Given the description of an element on the screen output the (x, y) to click on. 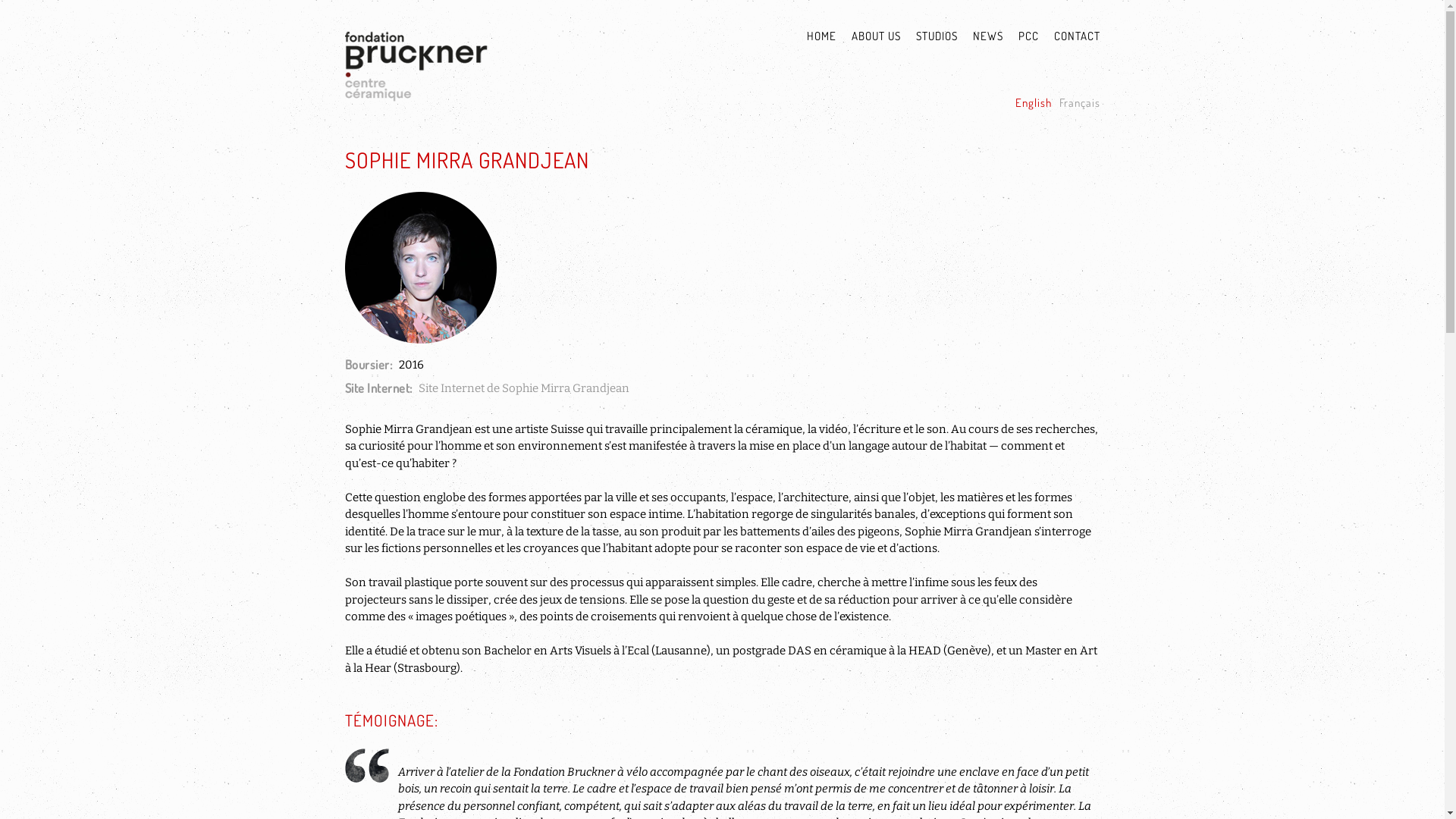
ABOUT US Element type: text (867, 36)
HOME Element type: text (813, 36)
NEWS Element type: text (979, 36)
STUDIOS Element type: text (928, 36)
CONTACT Element type: text (1069, 36)
Skip to main content Element type: text (722, 2)
PCC Element type: text (1020, 36)
English Element type: text (1032, 102)
Site Internet de Sophie Mirra Grandjean Element type: text (523, 388)
Home Element type: hover (476, 72)
